Given the description of an element on the screen output the (x, y) to click on. 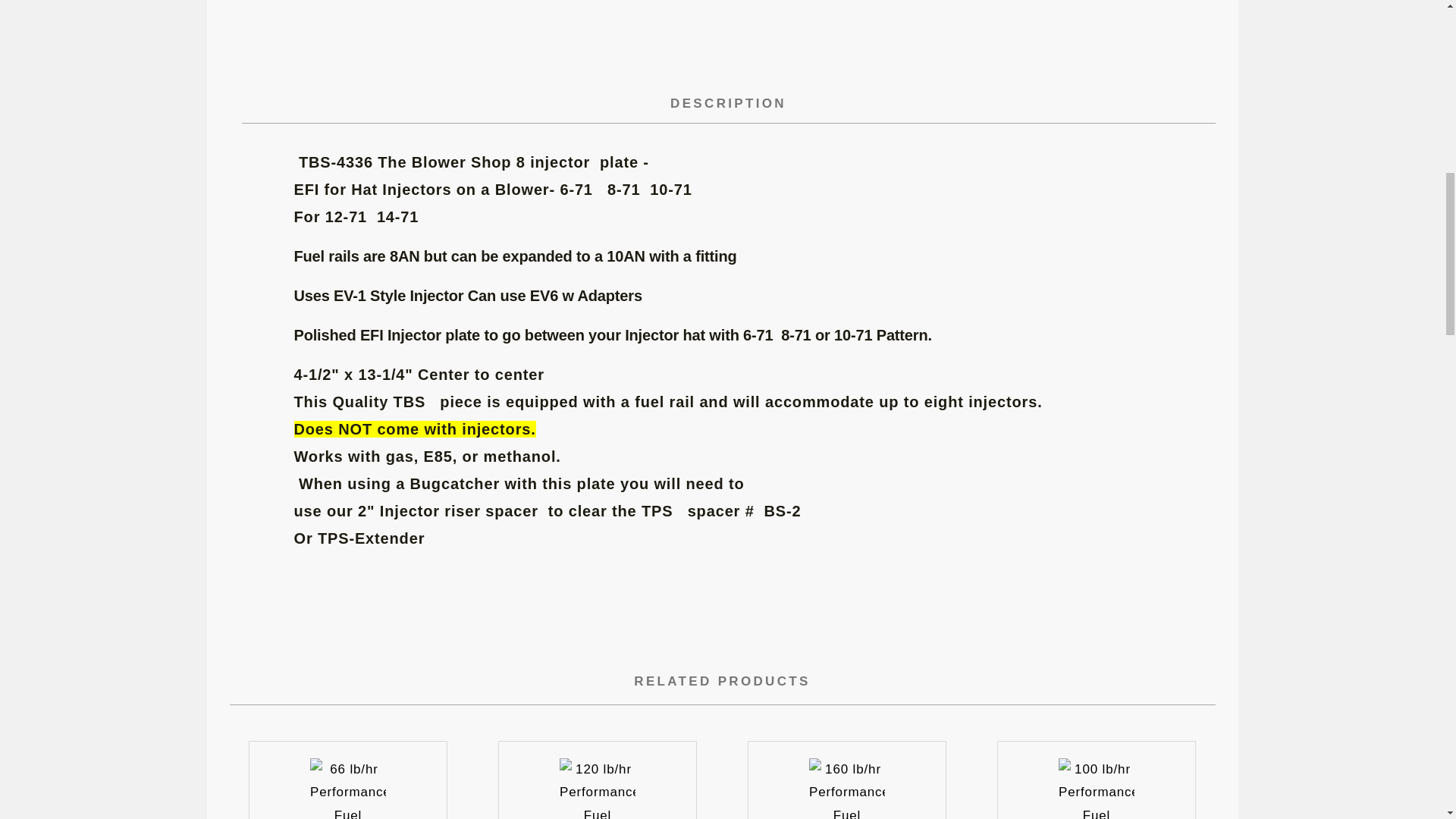
PayPal (1056, 28)
